Given the description of an element on the screen output the (x, y) to click on. 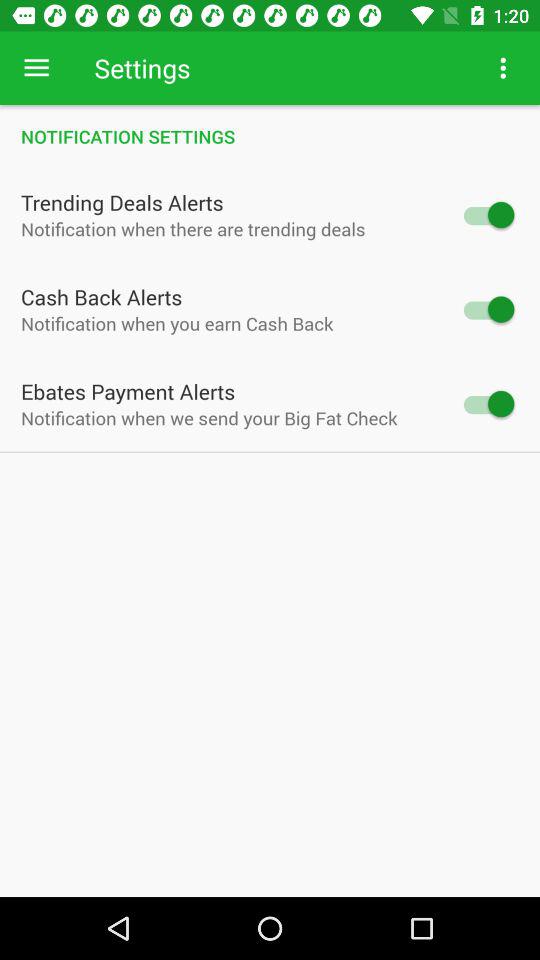
switch the trending deals alerts (487, 214)
